Given the description of an element on the screen output the (x, y) to click on. 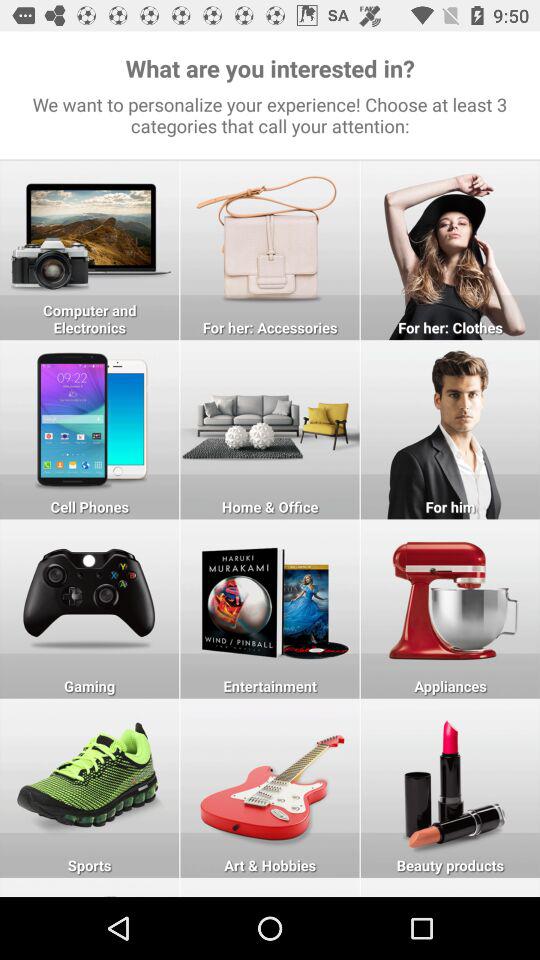
units bottom line (89, 887)
